Given the description of an element on the screen output the (x, y) to click on. 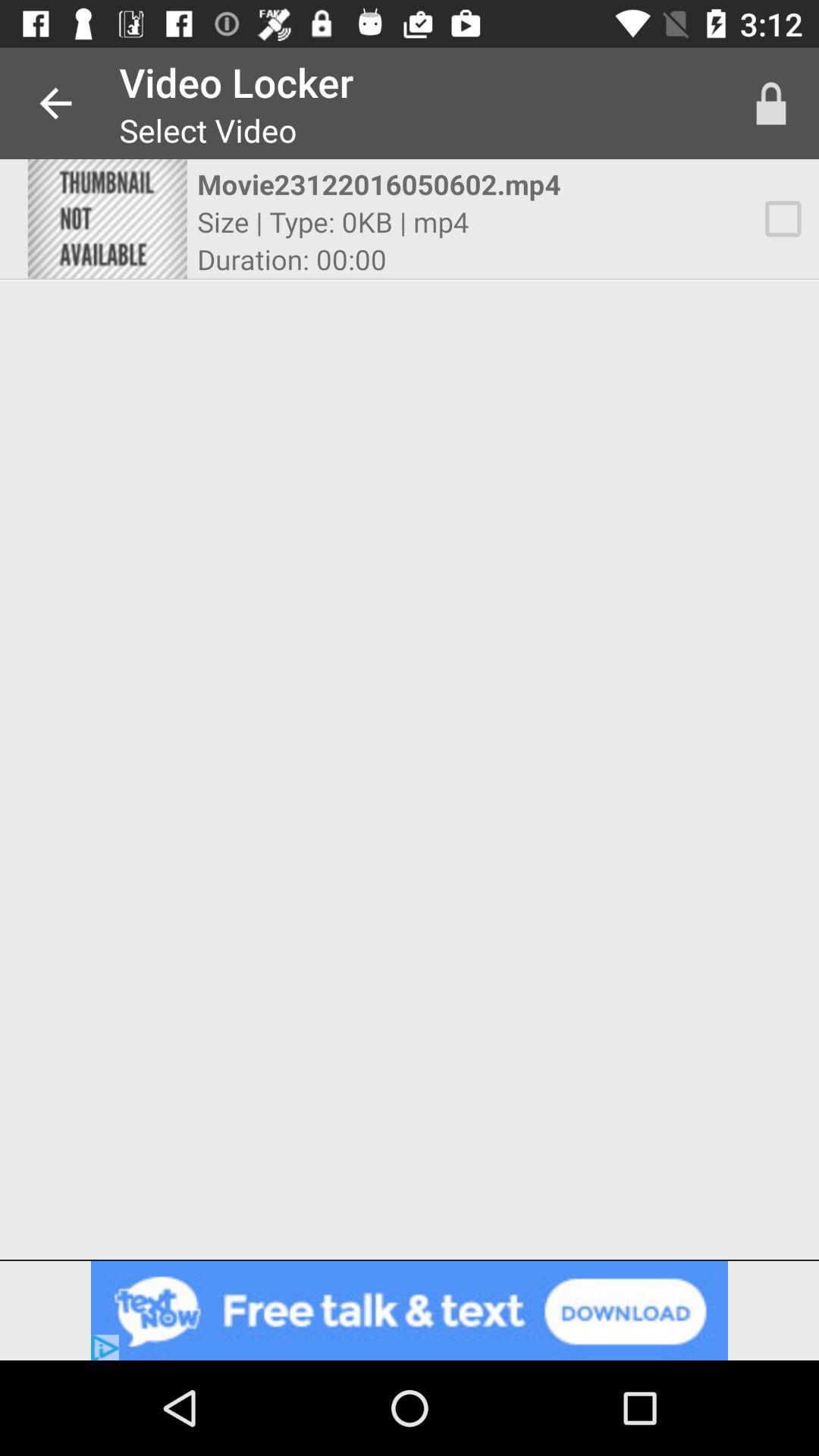
click the app to the left of the video locker app (55, 103)
